Given the description of an element on the screen output the (x, y) to click on. 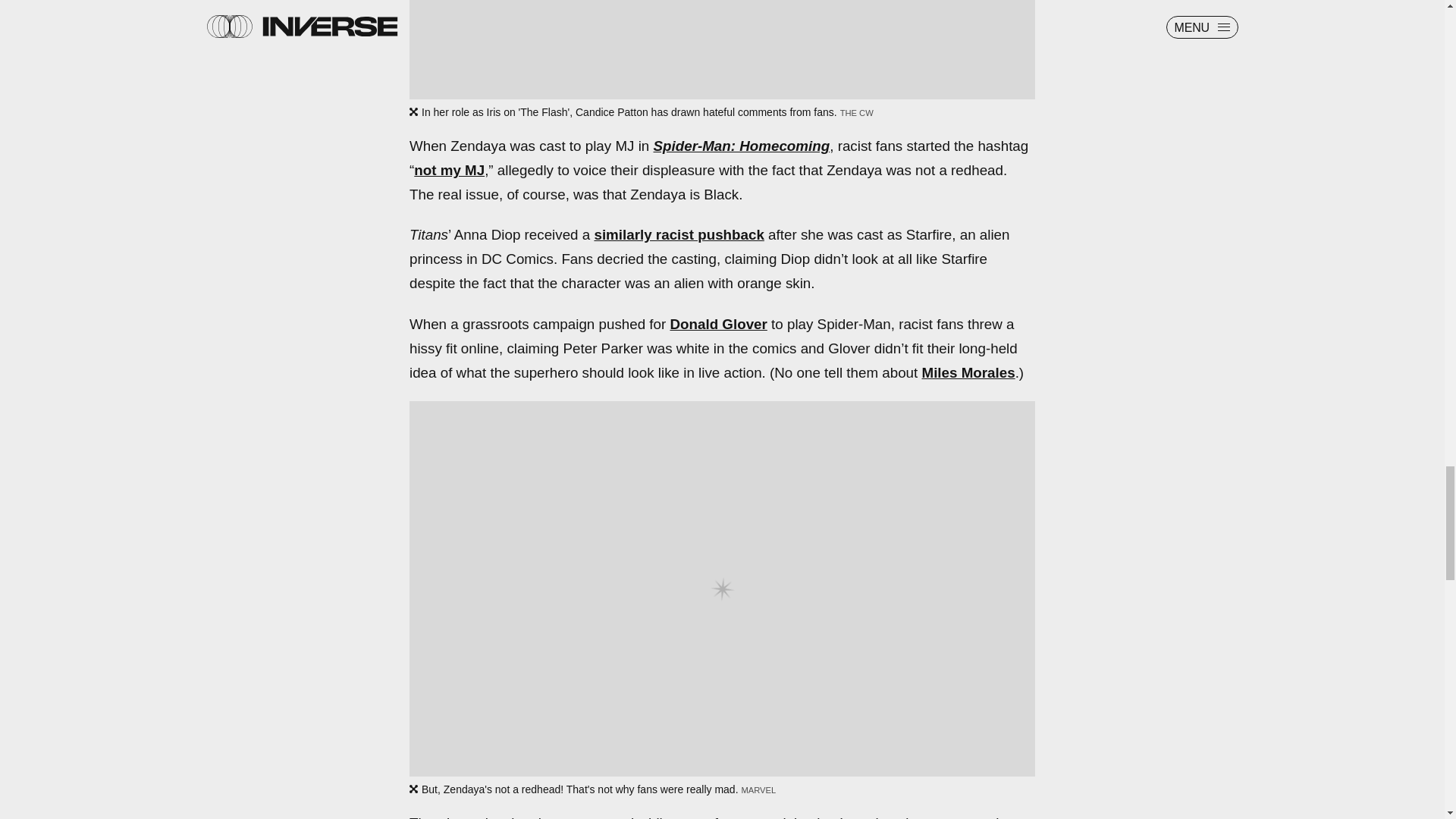
Miles Morales (967, 372)
Spider-Man: Homecoming (741, 145)
not my MJ (448, 170)
similarly racist pushback (678, 234)
Donald Glover (718, 324)
